Given the description of an element on the screen output the (x, y) to click on. 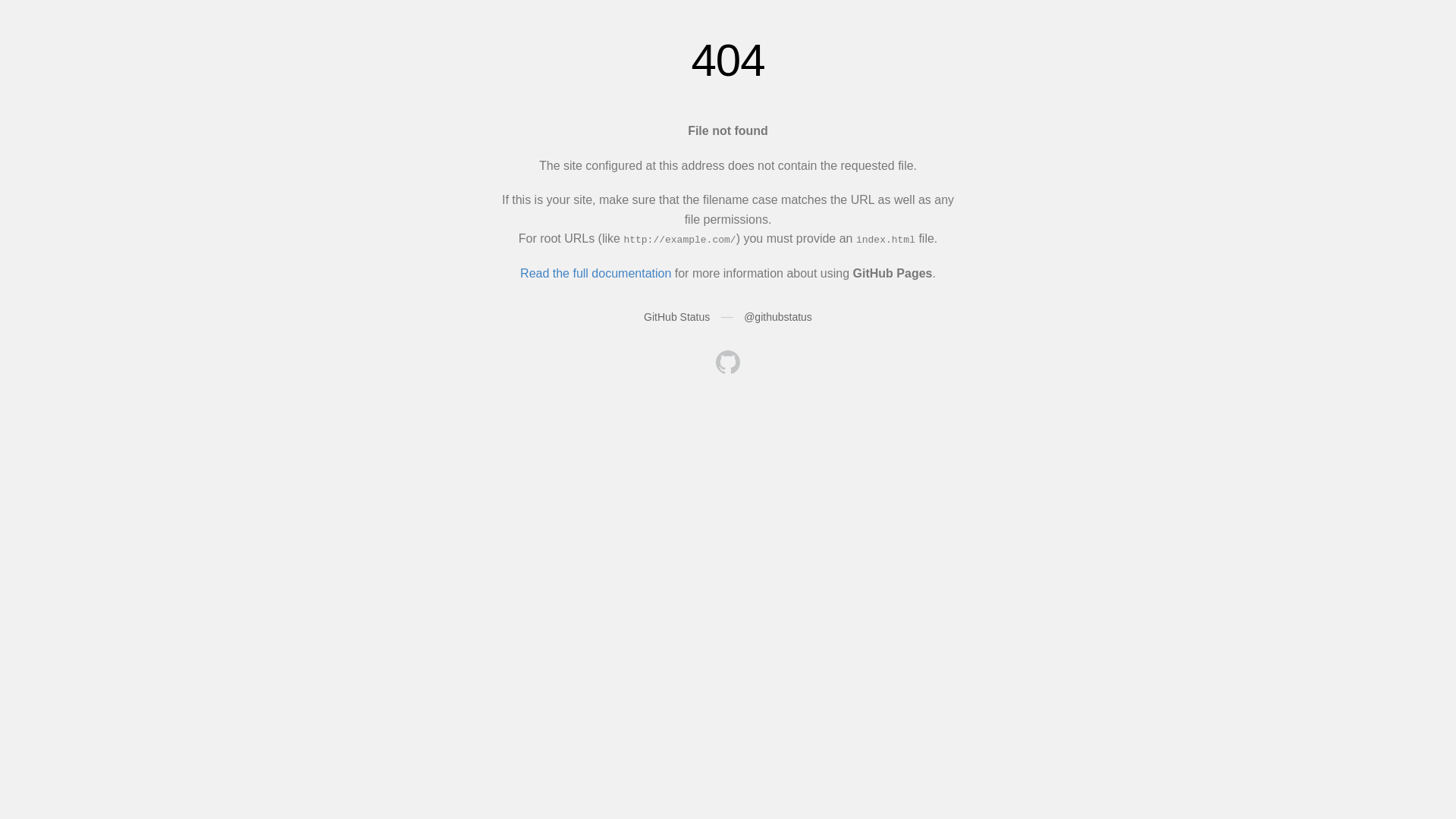
GitHub Status Element type: text (676, 316)
Read the full documentation Element type: text (595, 272)
@githubstatus Element type: text (777, 316)
